Given the description of an element on the screen output the (x, y) to click on. 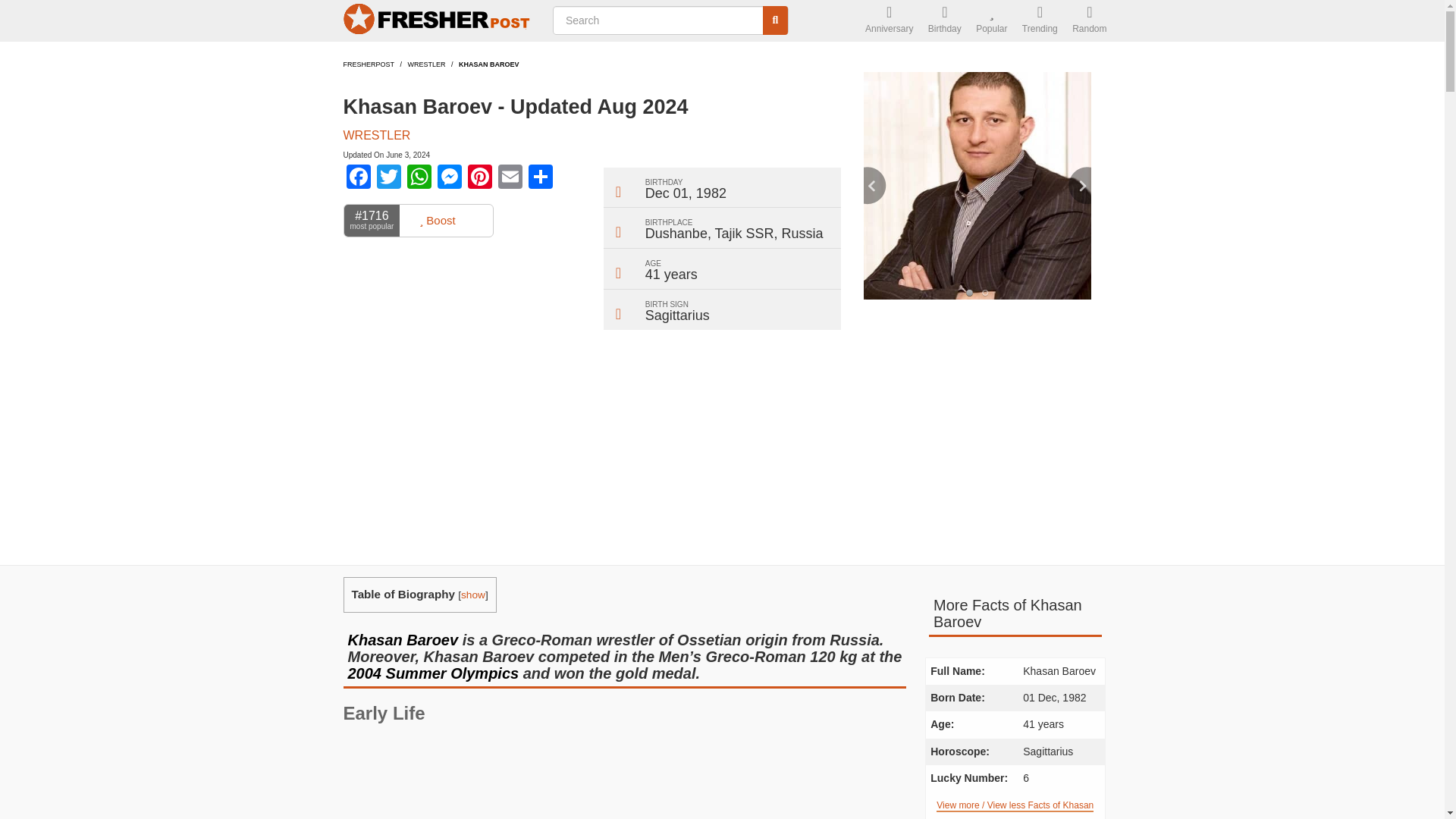
Anniversary (888, 21)
Search (775, 20)
Wrestler (426, 63)
WhatsApp (418, 178)
Twitter (387, 178)
2004 Summer Olympics (434, 673)
Khasan Baroev (402, 639)
Fresher Post (438, 21)
Dushanbe, Tajik SSR (709, 233)
